Given the description of an element on the screen output the (x, y) to click on. 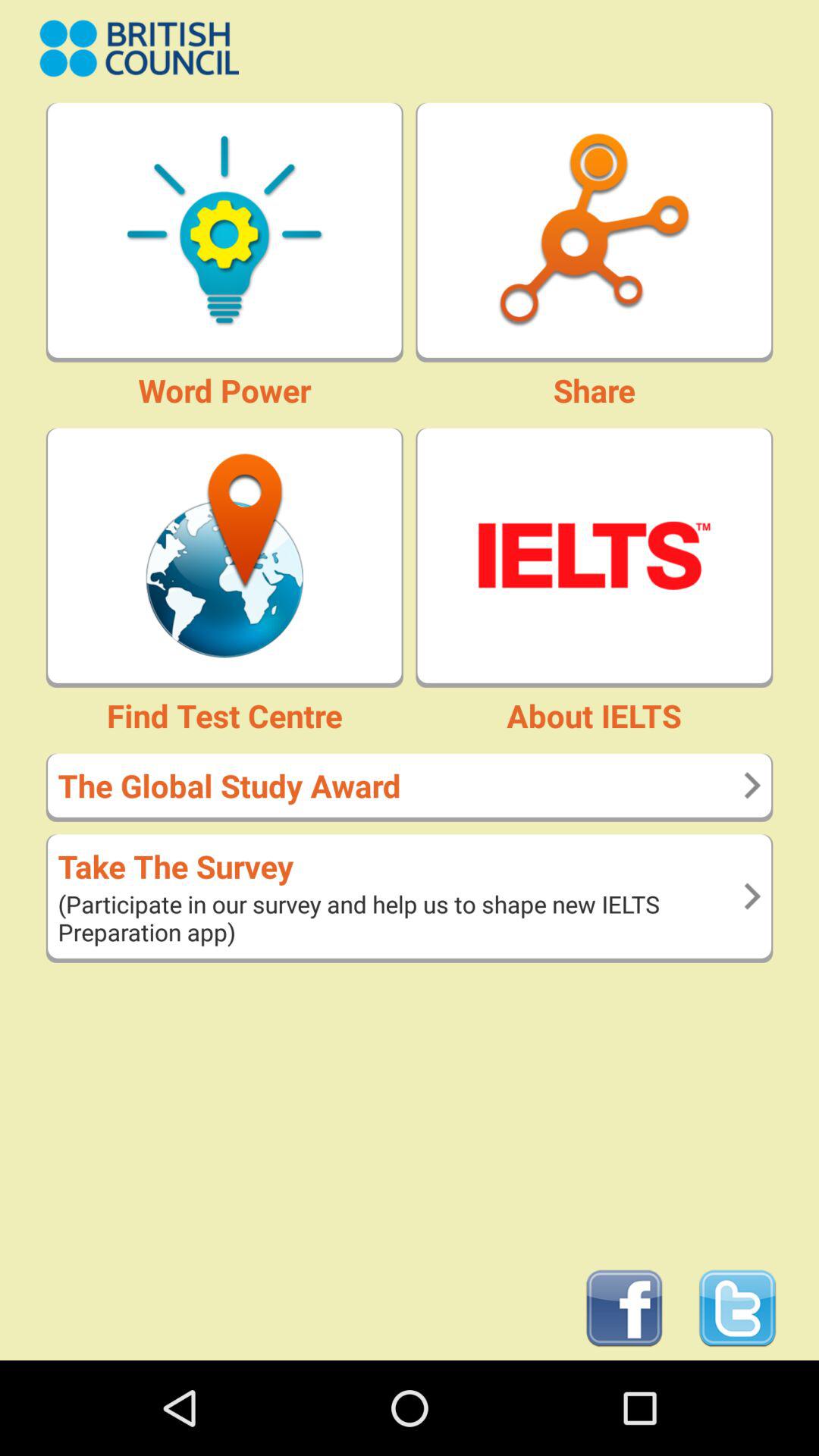
view map (224, 555)
